Given the description of an element on the screen output the (x, y) to click on. 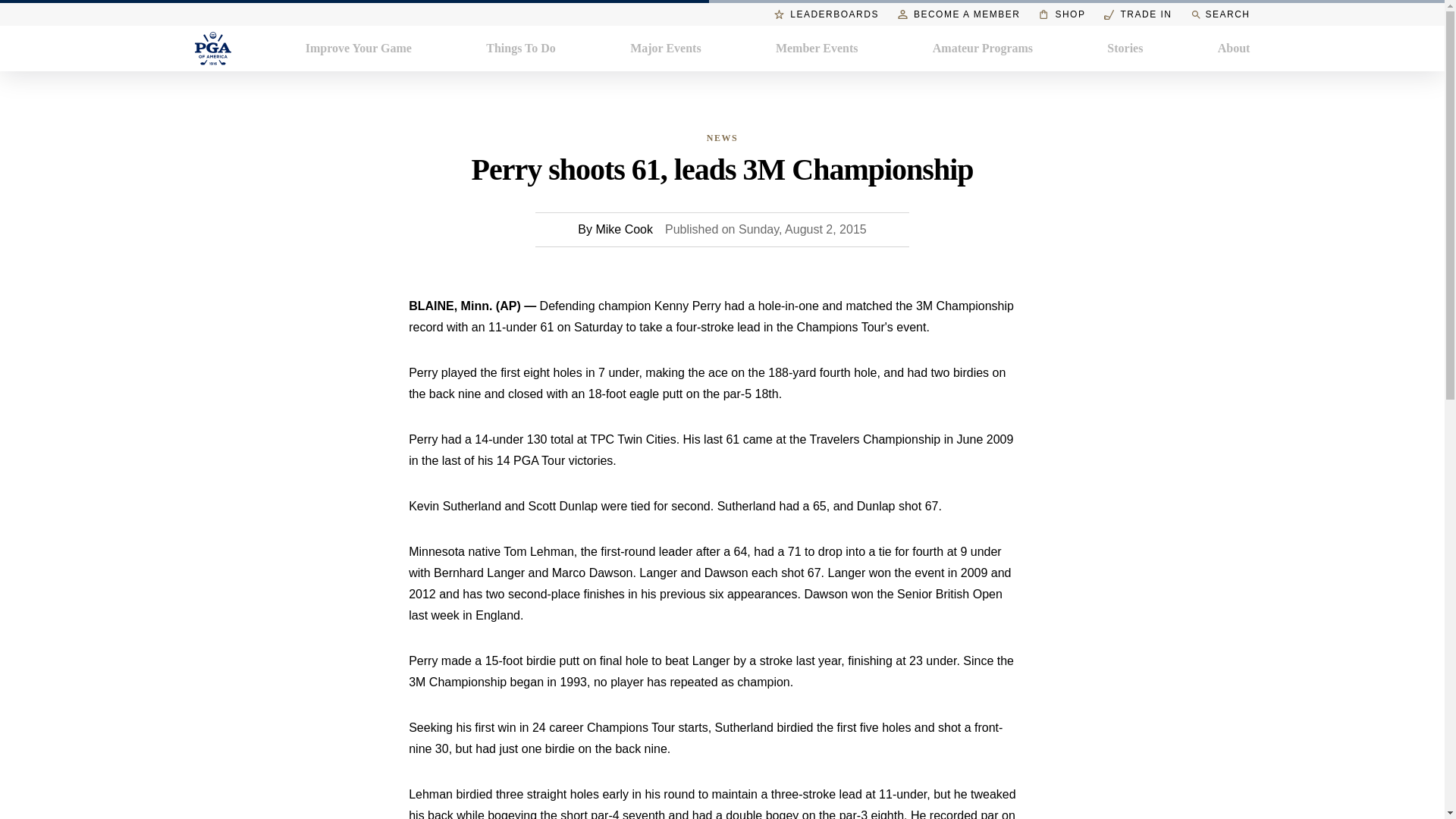
Member Events (817, 48)
Major Events (665, 48)
Amateur Programs (982, 48)
SHOP (1061, 13)
SEARCH (1220, 14)
TRADE IN (1137, 13)
Improve Your Game (358, 48)
LEADERBOARDS (826, 13)
Things To Do (521, 48)
BECOME A MEMBER (959, 13)
